Given the description of an element on the screen output the (x, y) to click on. 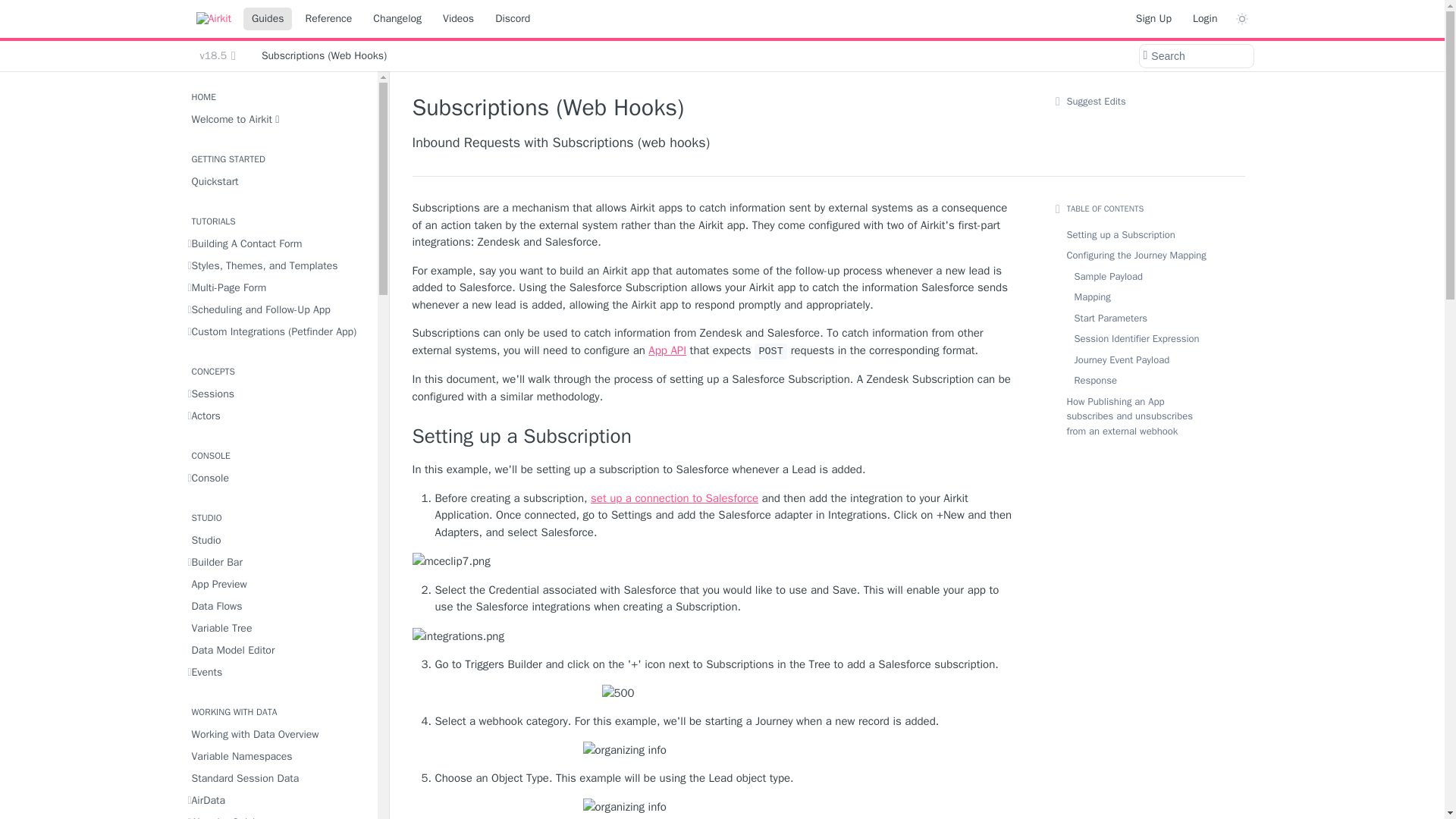
v18.5 (216, 56)
Reference (328, 18)
Quickstart (277, 181)
Changelog (397, 18)
Discord (512, 18)
Setting up a Subscription (715, 437)
Building A Contact Form (277, 243)
Login (1205, 18)
Guides (267, 18)
Sign Up (1152, 18)
